Given the description of an element on the screen output the (x, y) to click on. 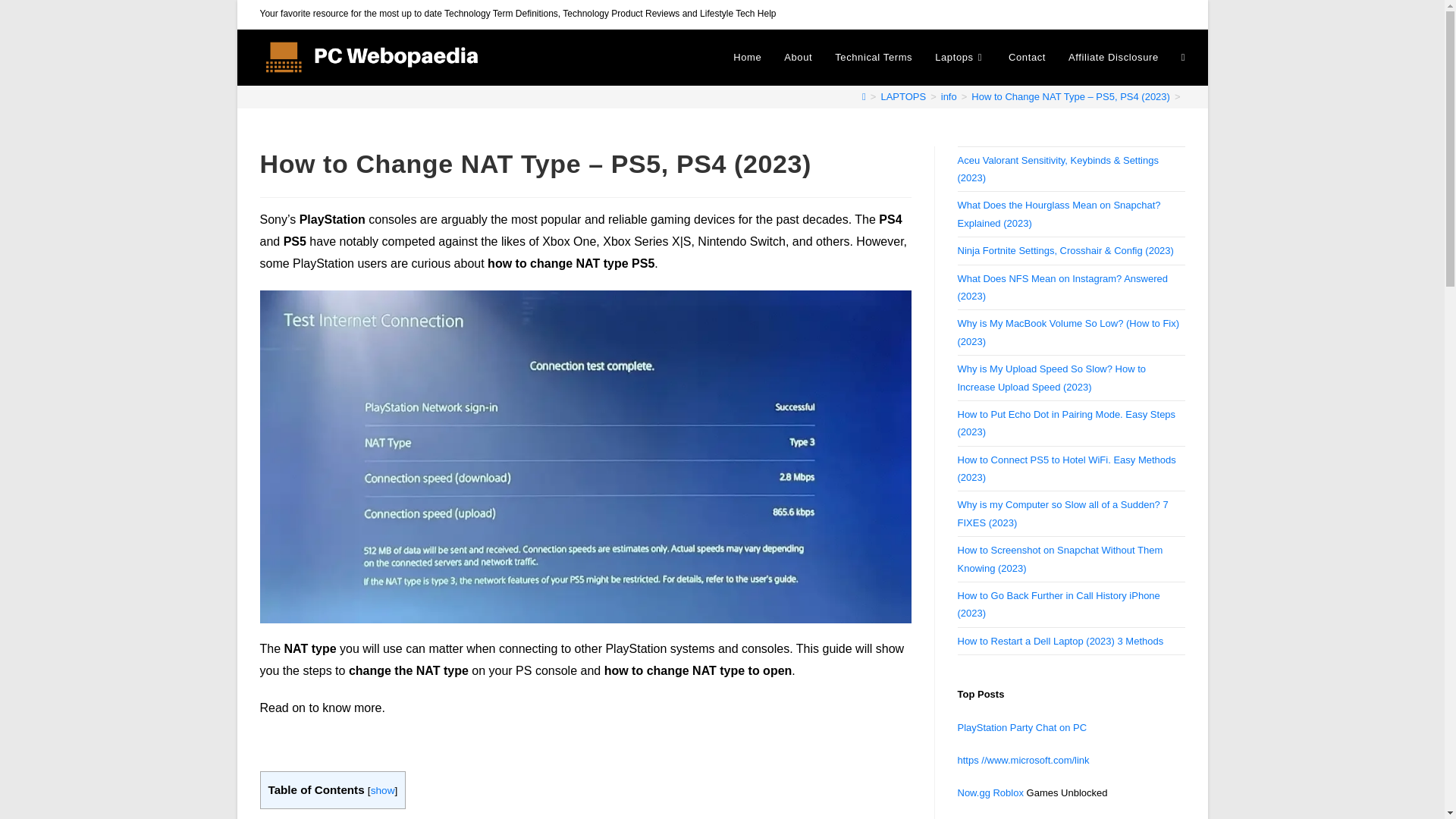
show (382, 790)
Technical Terms (873, 57)
About (798, 57)
LAPTOPS (903, 96)
Home (747, 57)
Laptops (960, 57)
info (948, 96)
Affiliate Disclosure (1113, 57)
Contact (1027, 57)
